Given the description of an element on the screen output the (x, y) to click on. 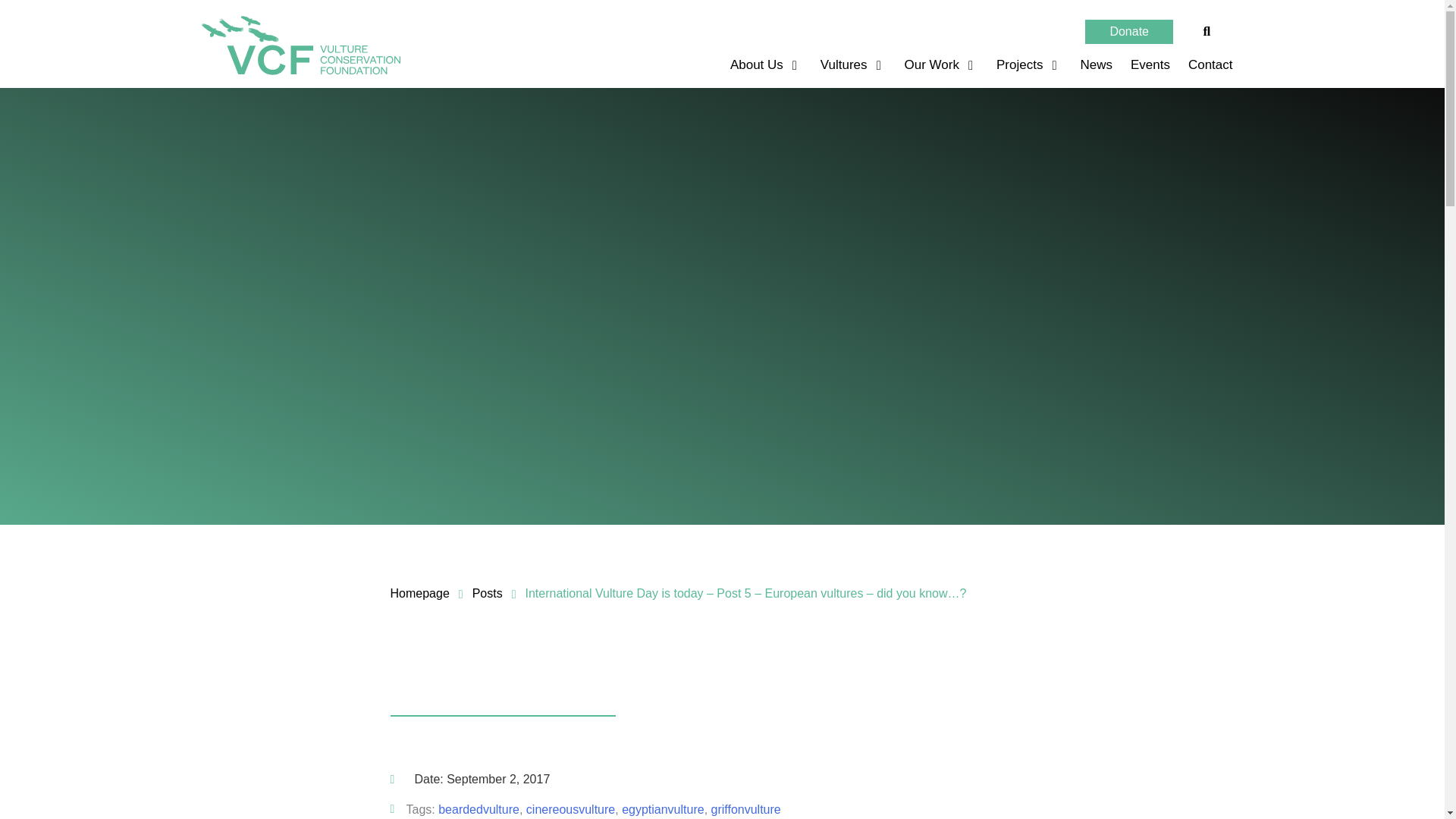
Vultures (845, 64)
Donate (1128, 31)
Our Work (933, 64)
About Us (758, 64)
